Given the description of an element on the screen output the (x, y) to click on. 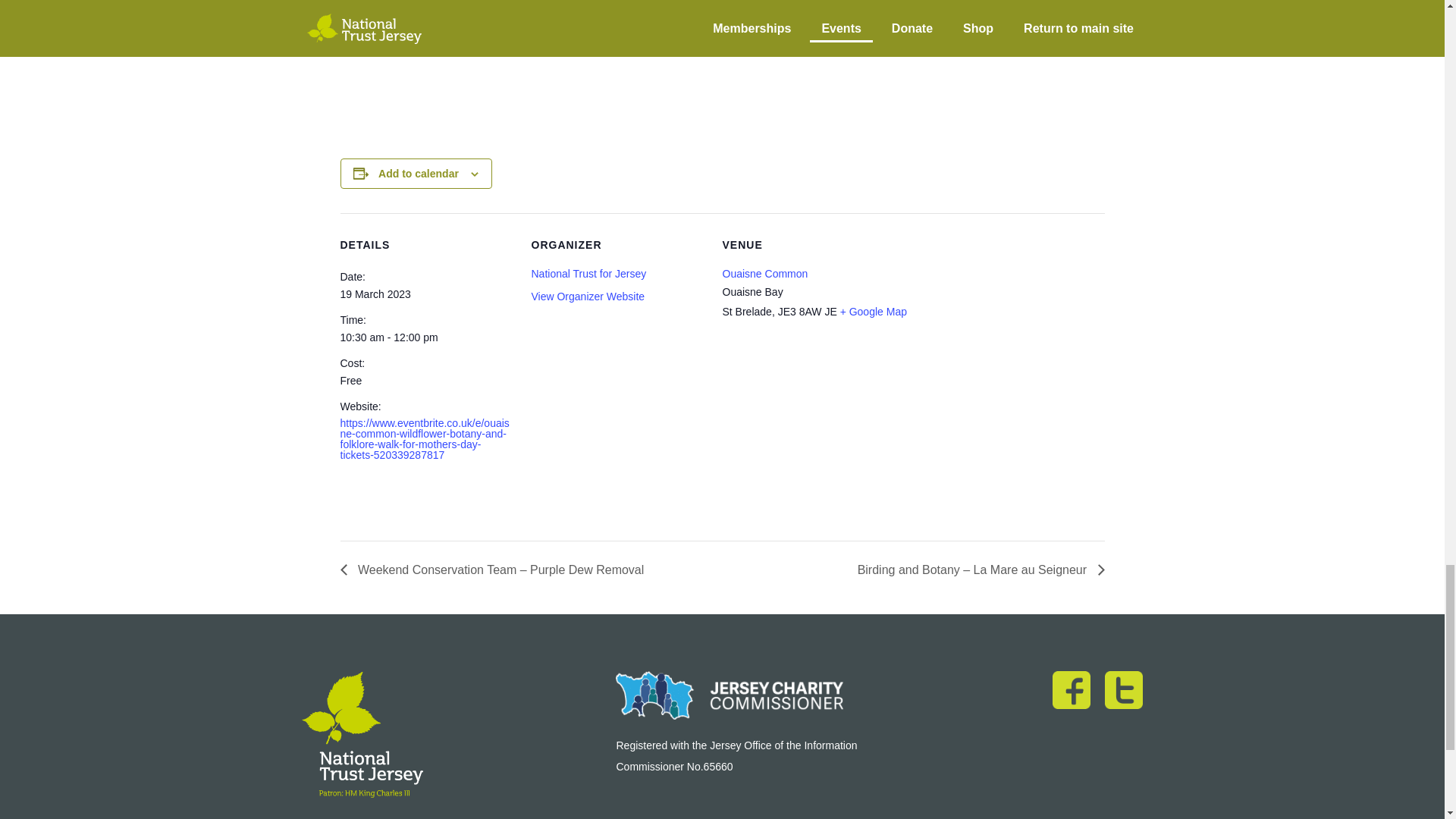
Google maps iframe displaying the address to Ouaisne Common (912, 440)
2023-03-19 (425, 337)
View Organizer Website (588, 296)
Add to calendar (418, 173)
National Trust for Jersey (588, 273)
Ouaisne Common (765, 273)
2023-03-19 (374, 294)
National Trust for Jersey (588, 273)
Click to view a Google Map (873, 311)
